Given the description of an element on the screen output the (x, y) to click on. 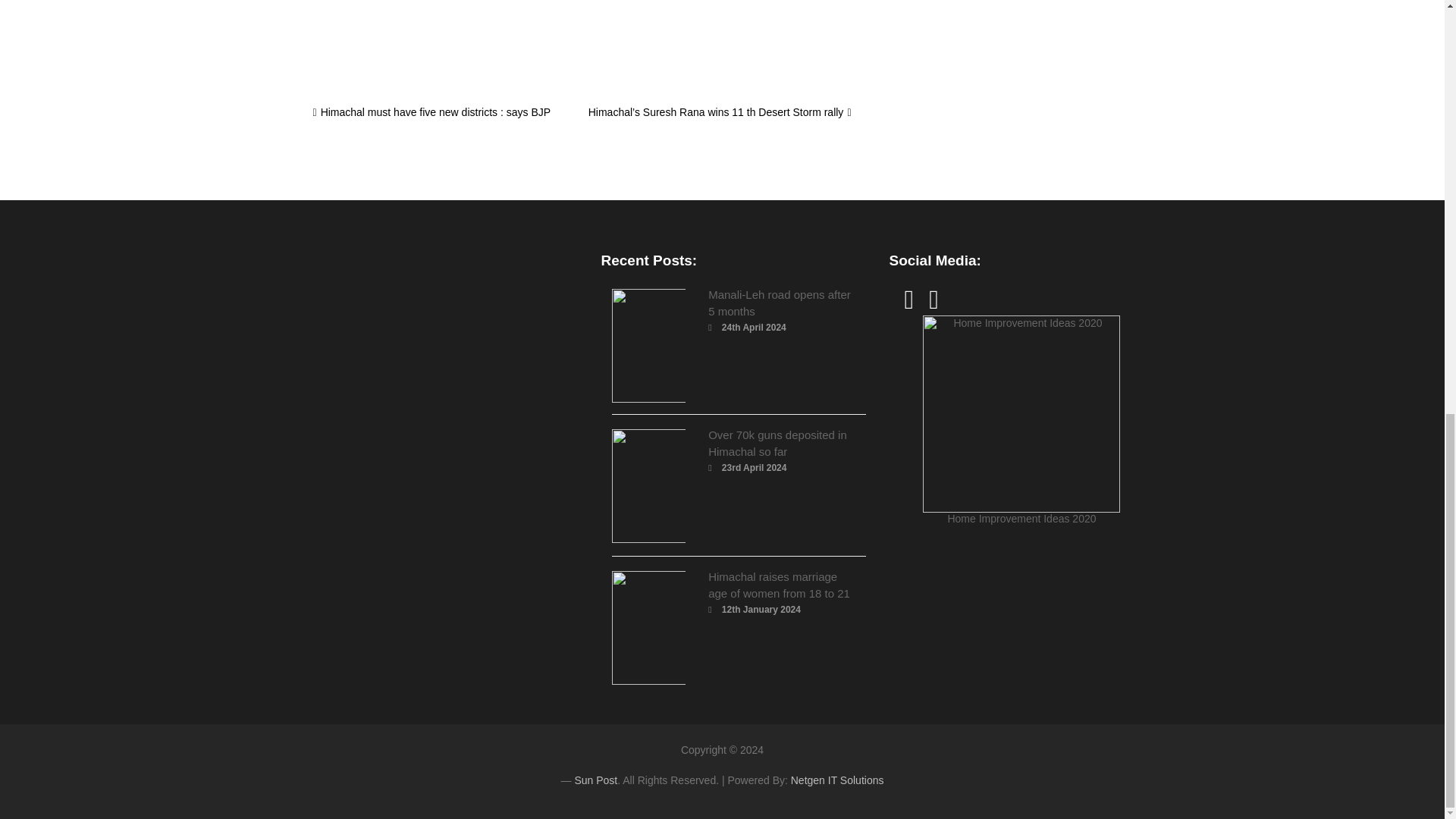
Home Improvement Ideas 2020 (1021, 419)
Himachal must have five new districts : says BJP (431, 111)
Manali-Leh road opens after 5 months (778, 302)
Sun Post (595, 779)
Over 70k guns deposited in Himachal so far (777, 442)
Netgen IT Solutions (836, 779)
Himachal raises marriage age of women from 18 to 21 (778, 584)
